Given the description of an element on the screen output the (x, y) to click on. 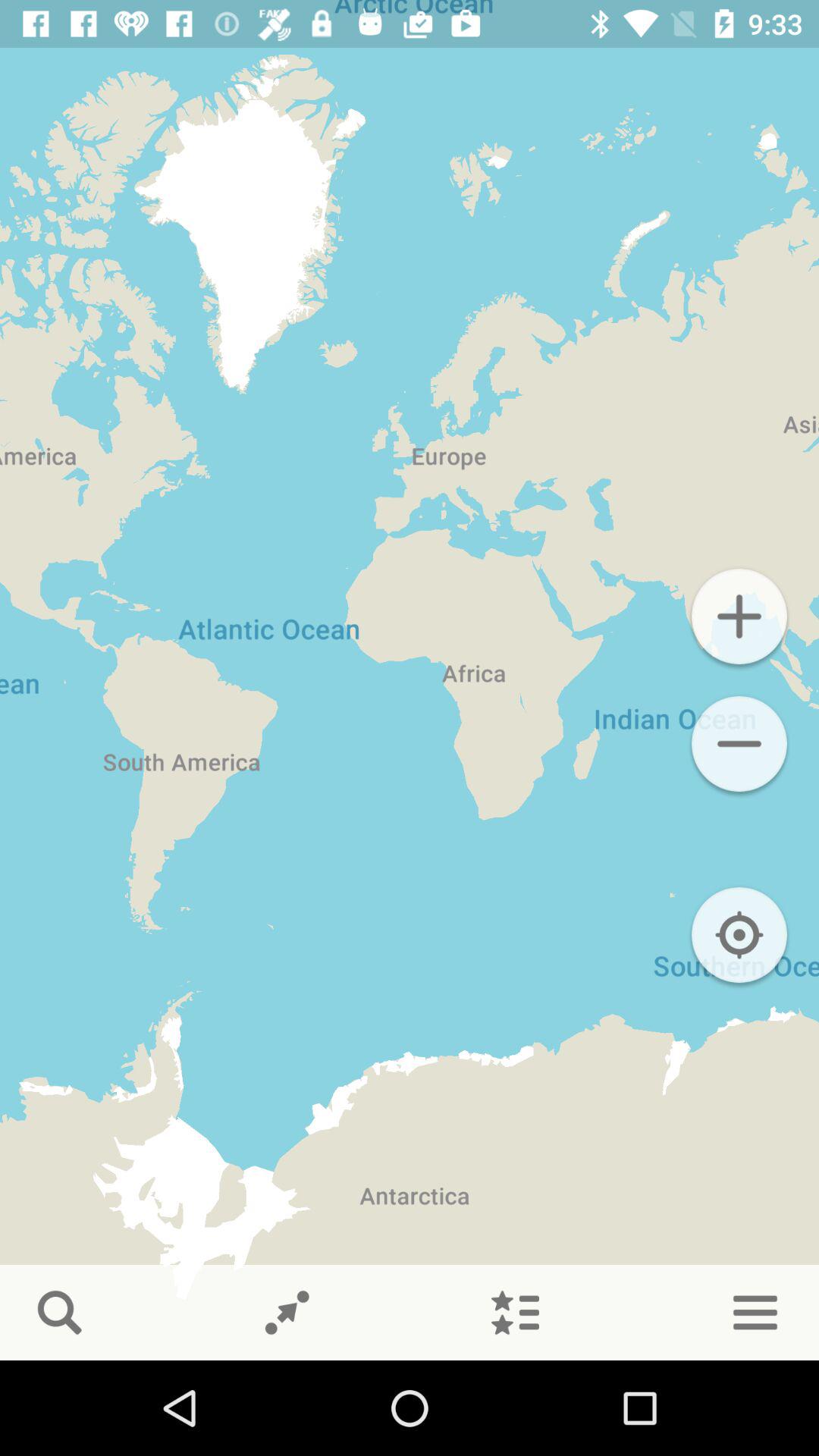
split option (286, 1312)
